Given the description of an element on the screen output the (x, y) to click on. 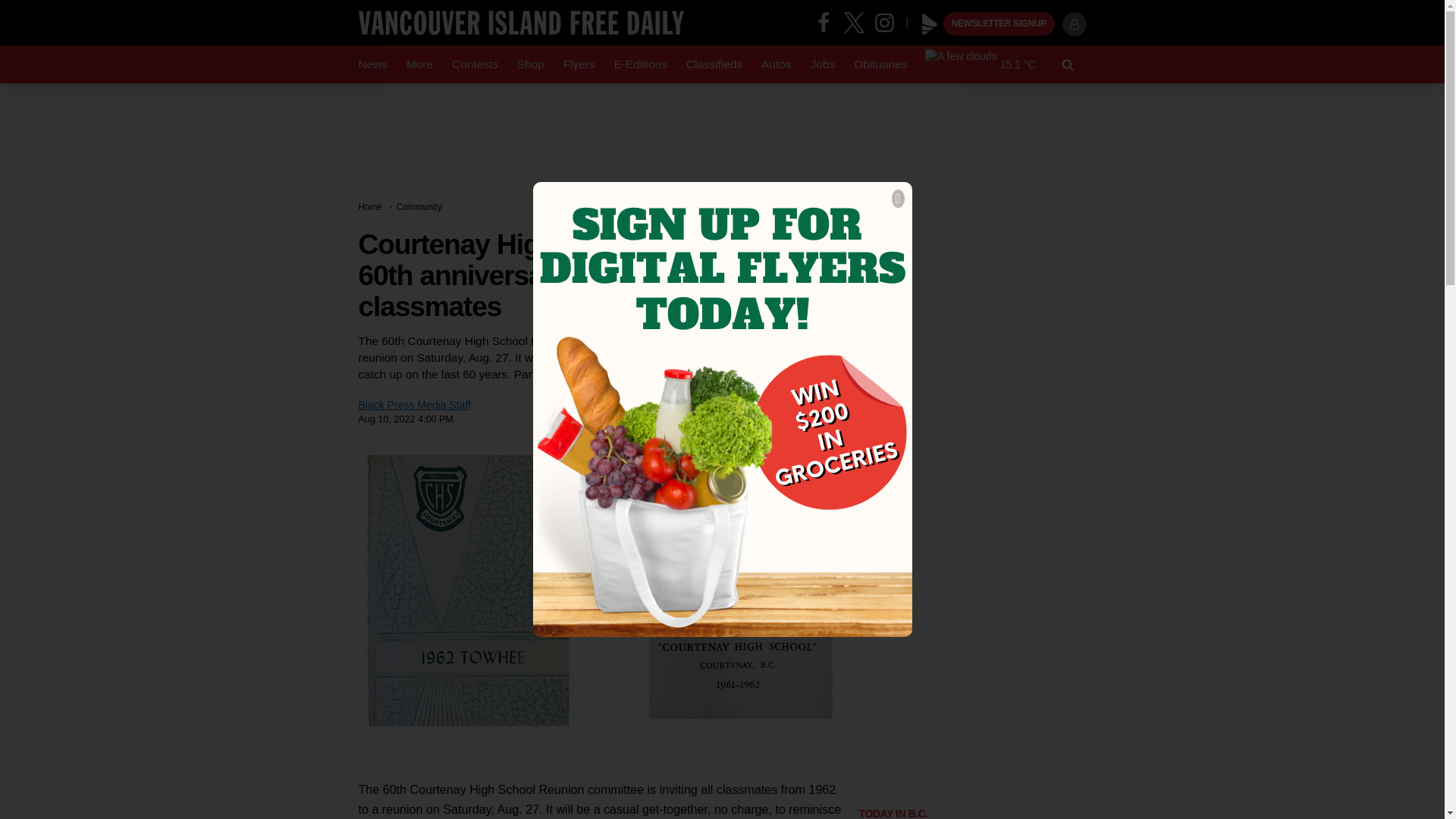
Instagram (889, 21)
Facebook (823, 21)
News (372, 64)
Play (929, 24)
X (853, 21)
NEWSLETTER SIGNUP (998, 24)
Black Press Media (929, 24)
